Given the description of an element on the screen output the (x, y) to click on. 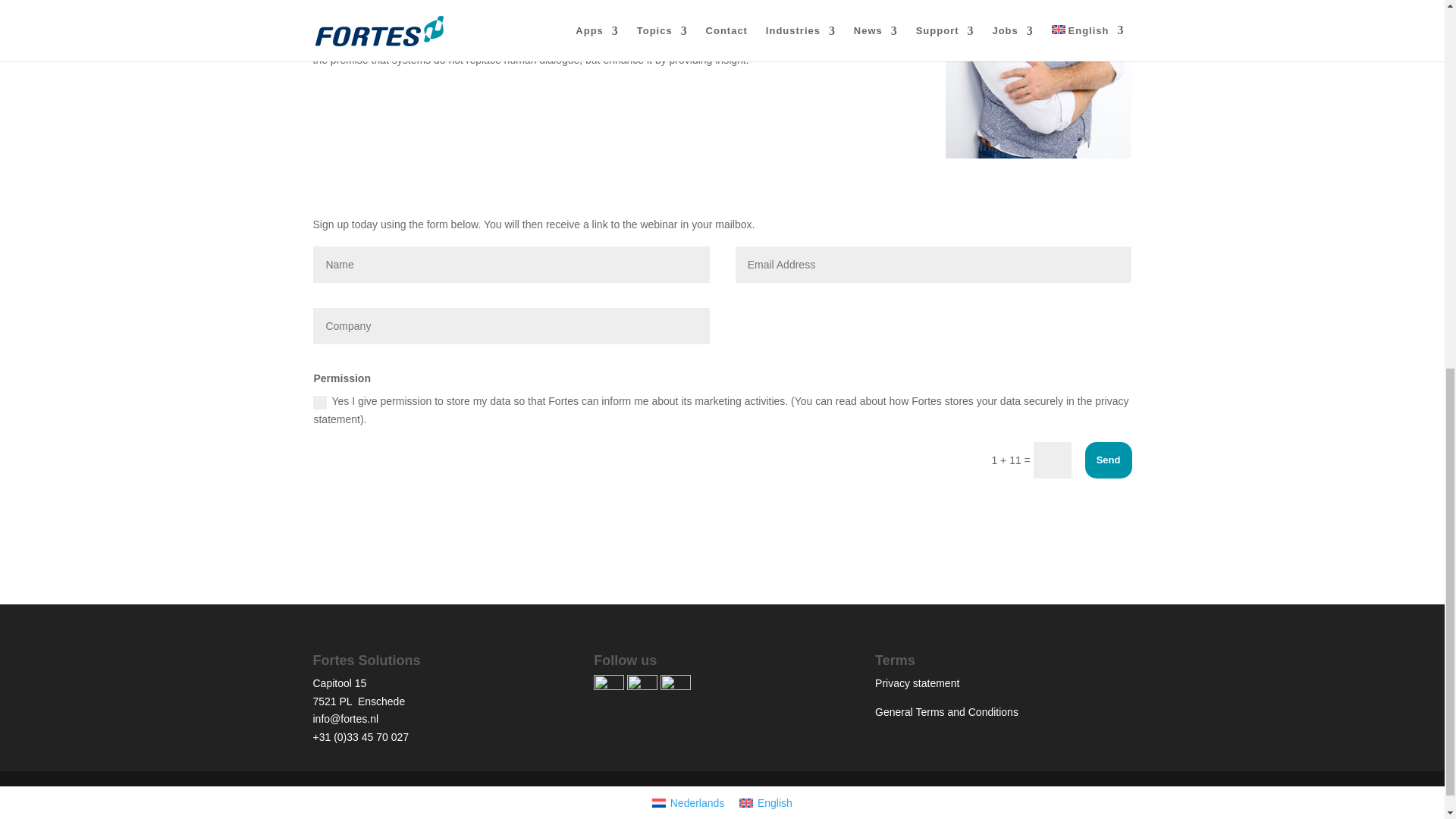
General Terms and Conditions (946, 711)
Maximum length: 140 characters. (511, 325)
Send (1108, 460)
English (765, 802)
Nederlands (688, 802)
Privacy statement (917, 683)
